Given the description of an element on the screen output the (x, y) to click on. 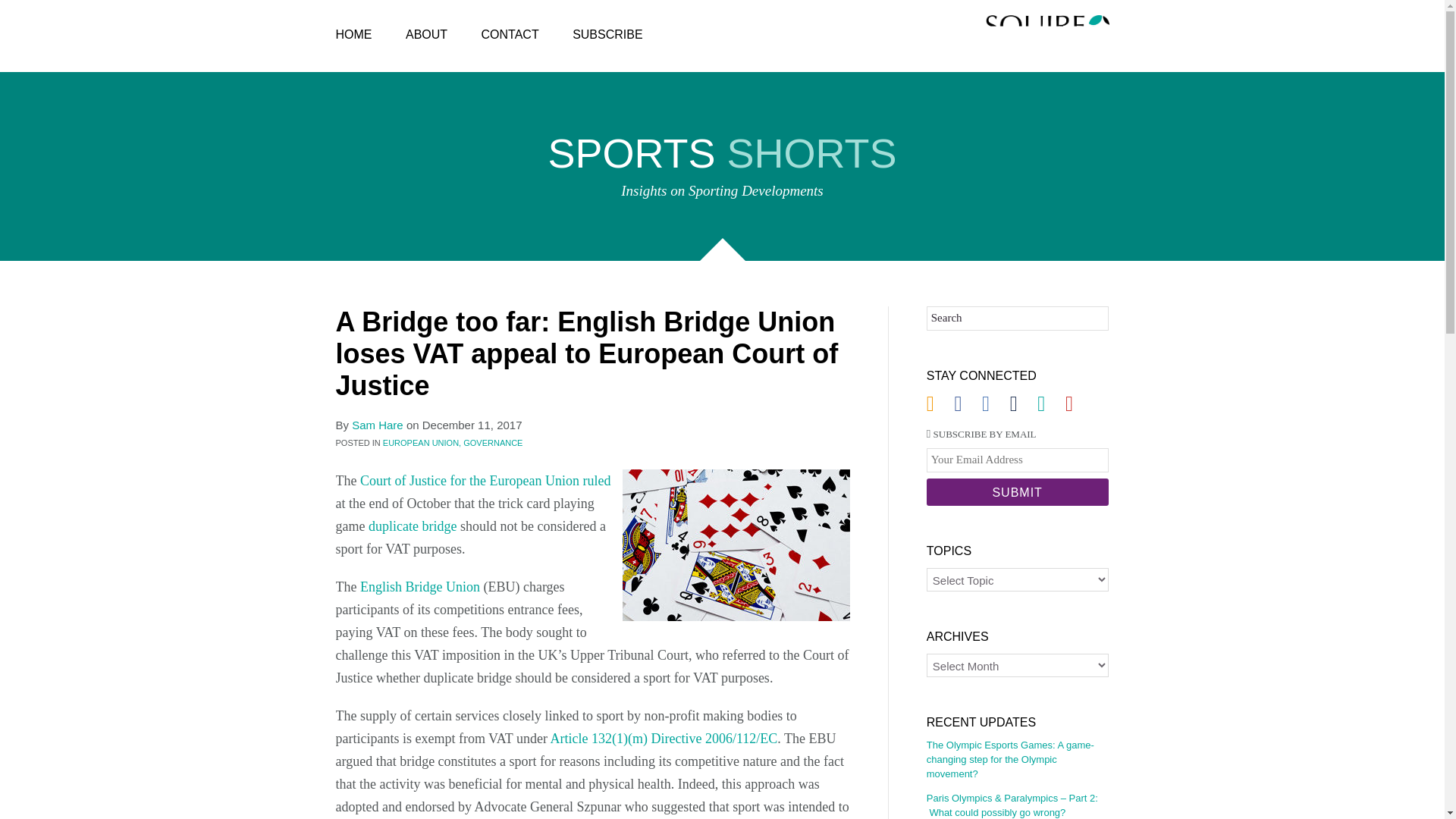
SPORTS SHORTS (721, 157)
SUBSCRIBE (607, 34)
CONTACT (509, 34)
SUBMIT (1017, 492)
HOME (352, 34)
Sam Hare (377, 424)
Go (1085, 317)
Court of Justice for the European Union ruled (484, 480)
EUROPEAN UNION, (421, 442)
Go (1085, 317)
SUBMIT (1017, 492)
Squire Patton Boggs (1047, 35)
Search (1017, 318)
English Bridge Union (419, 586)
